Given the description of an element on the screen output the (x, y) to click on. 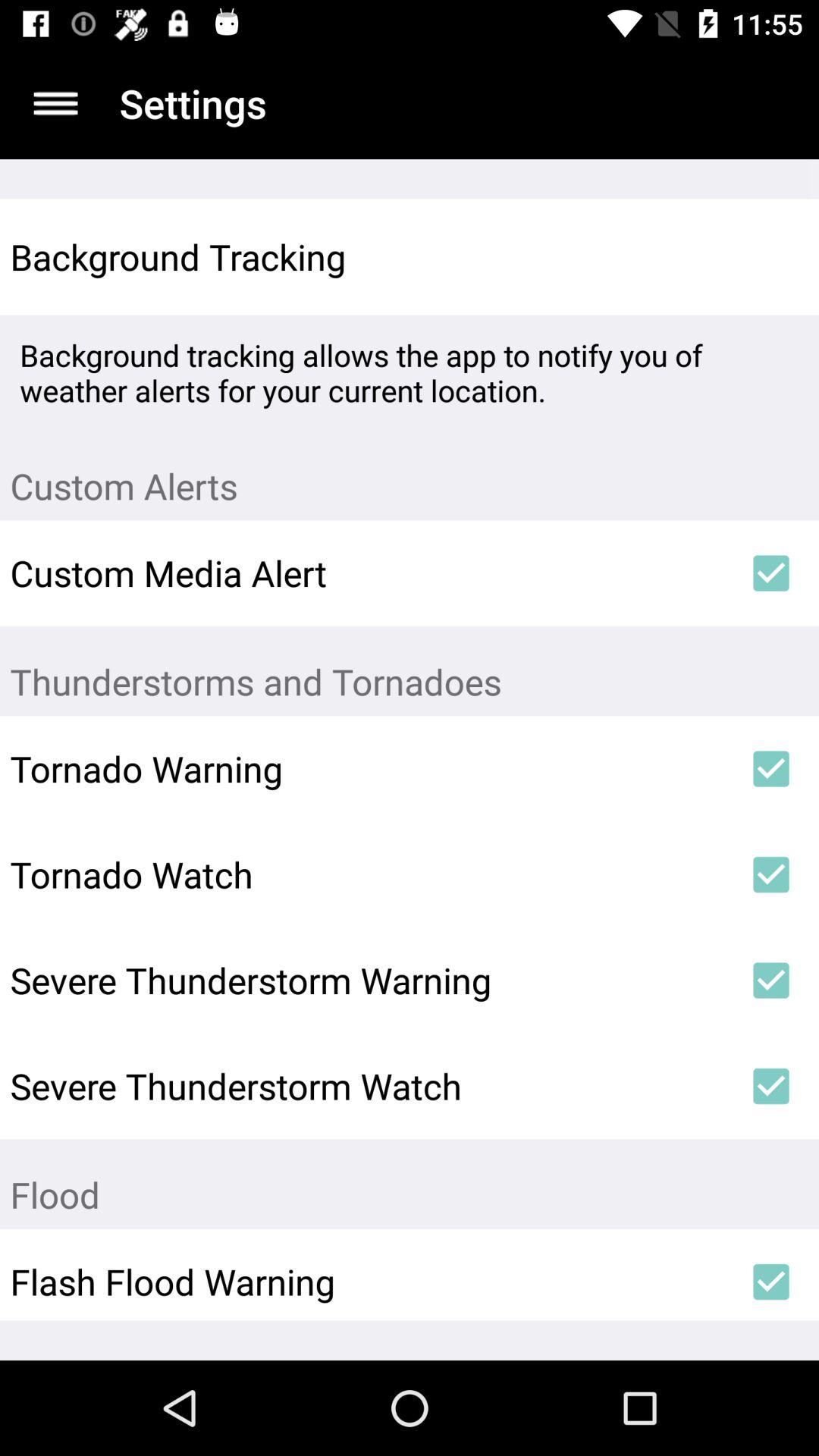
choose the icon to the right of the severe thunderstorm warning item (771, 980)
